Given the description of an element on the screen output the (x, y) to click on. 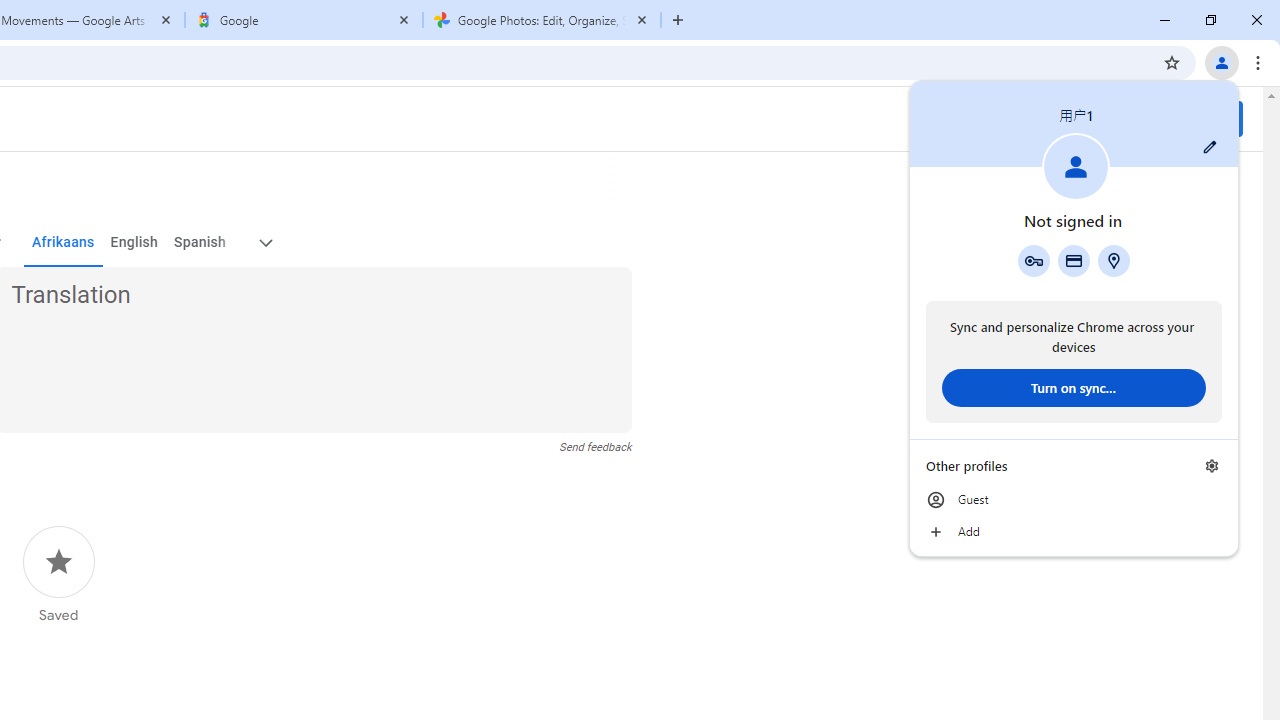
Google (304, 20)
Addresses and more (1114, 260)
English (134, 242)
Send feedback (595, 447)
Guest (1073, 499)
Google Password Manager (1033, 260)
Customize profile (1210, 147)
More target languages (264, 242)
Manage profiles (1211, 465)
Saved (57, 575)
